Given the description of an element on the screen output the (x, y) to click on. 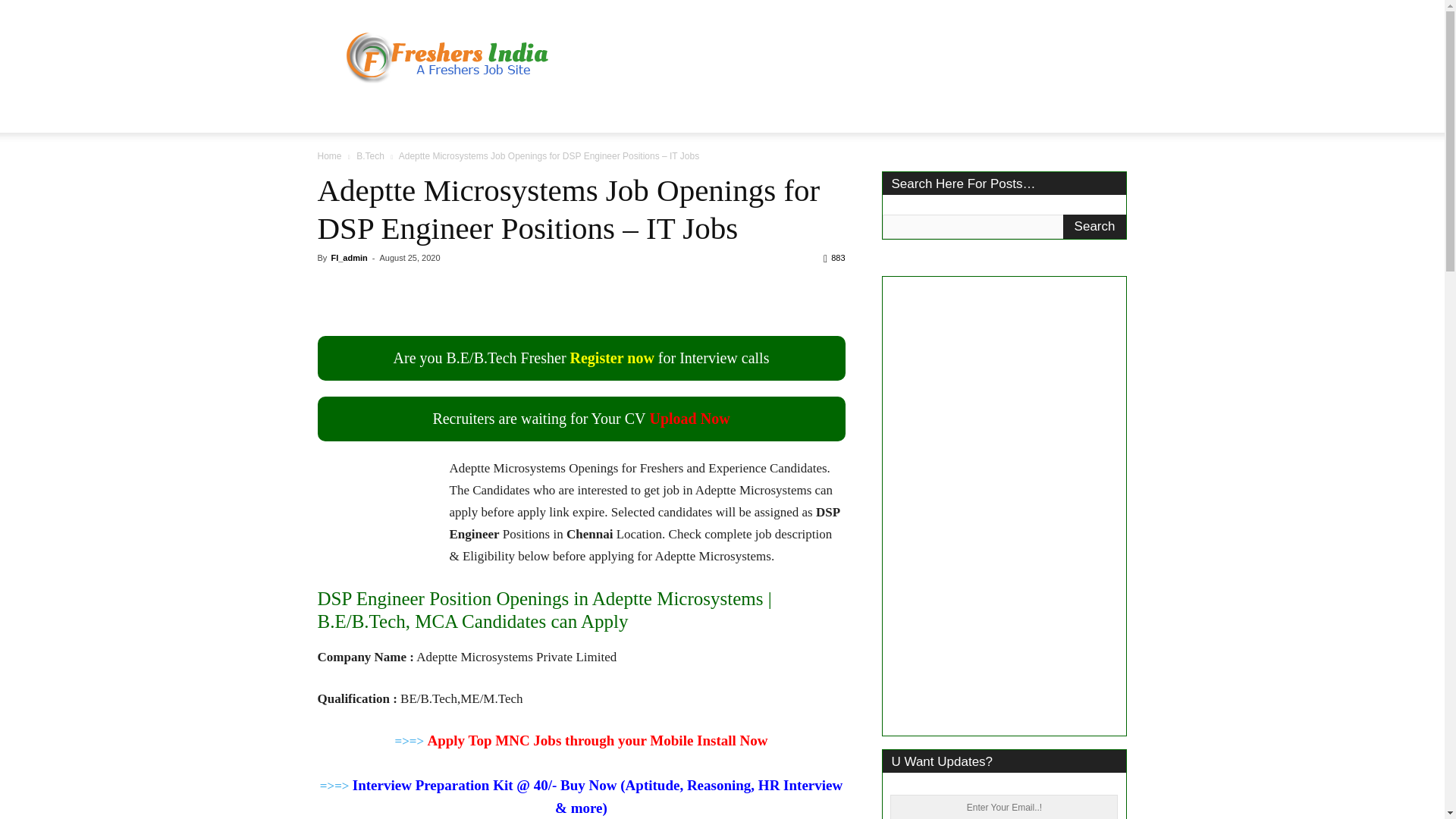
IT JOBS (405, 114)
Search (1094, 226)
Advertisement (850, 55)
WALKINS (561, 114)
HOME (344, 114)
BANK JOBS (643, 114)
MATERIALS FOR FRESHERS (776, 114)
GOVT JOBS (481, 114)
View all posts in B.Tech (370, 155)
